Given the description of an element on the screen output the (x, y) to click on. 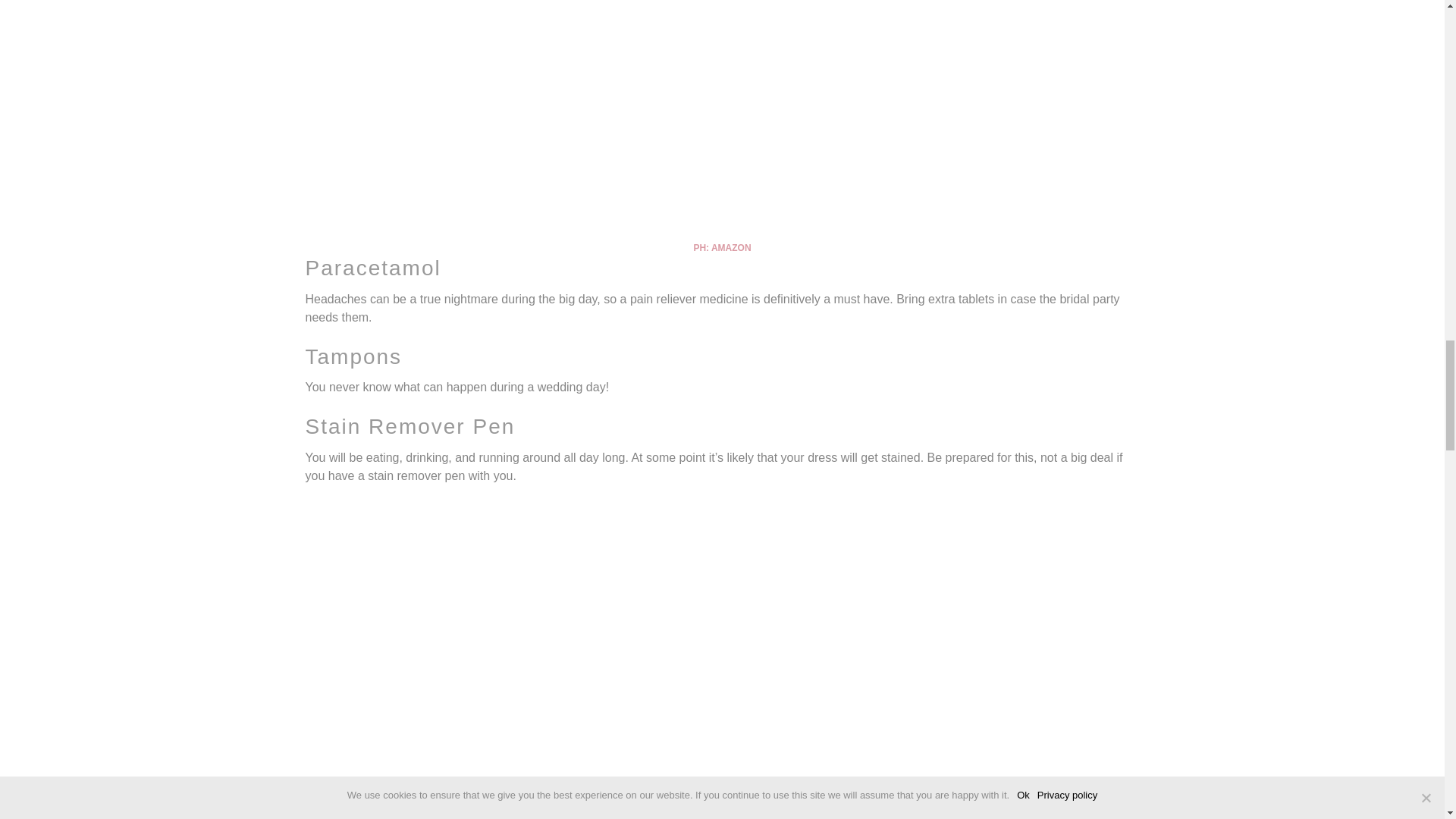
PH: AMAZON (722, 247)
